Given the description of an element on the screen output the (x, y) to click on. 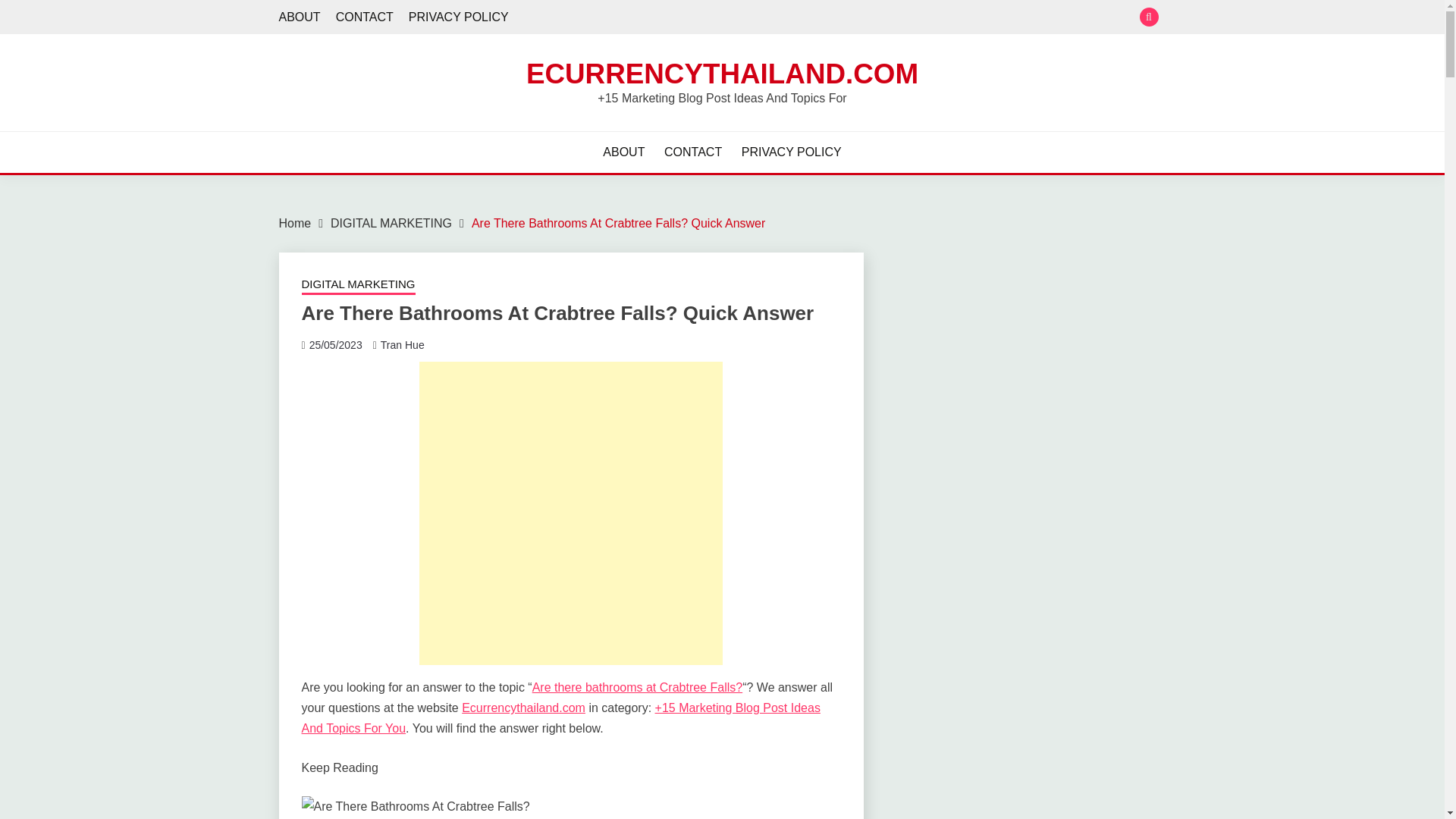
PRIVACY POLICY (458, 16)
PRIVACY POLICY (791, 152)
CONTACT (364, 16)
Home (295, 223)
ABOUT (299, 16)
Ecurrencythailand.com (523, 707)
ABOUT (623, 152)
Search (832, 18)
Are There Bathrooms At Crabtree Falls? Quick Answer (618, 223)
DIGITAL MARKETING (357, 285)
CONTACT (692, 152)
DIGITAL MARKETING (390, 223)
Tran Hue (402, 345)
Are there bathrooms at Crabtree Falls? (637, 686)
ECURRENCYTHAILAND.COM (721, 73)
